Given the description of an element on the screen output the (x, y) to click on. 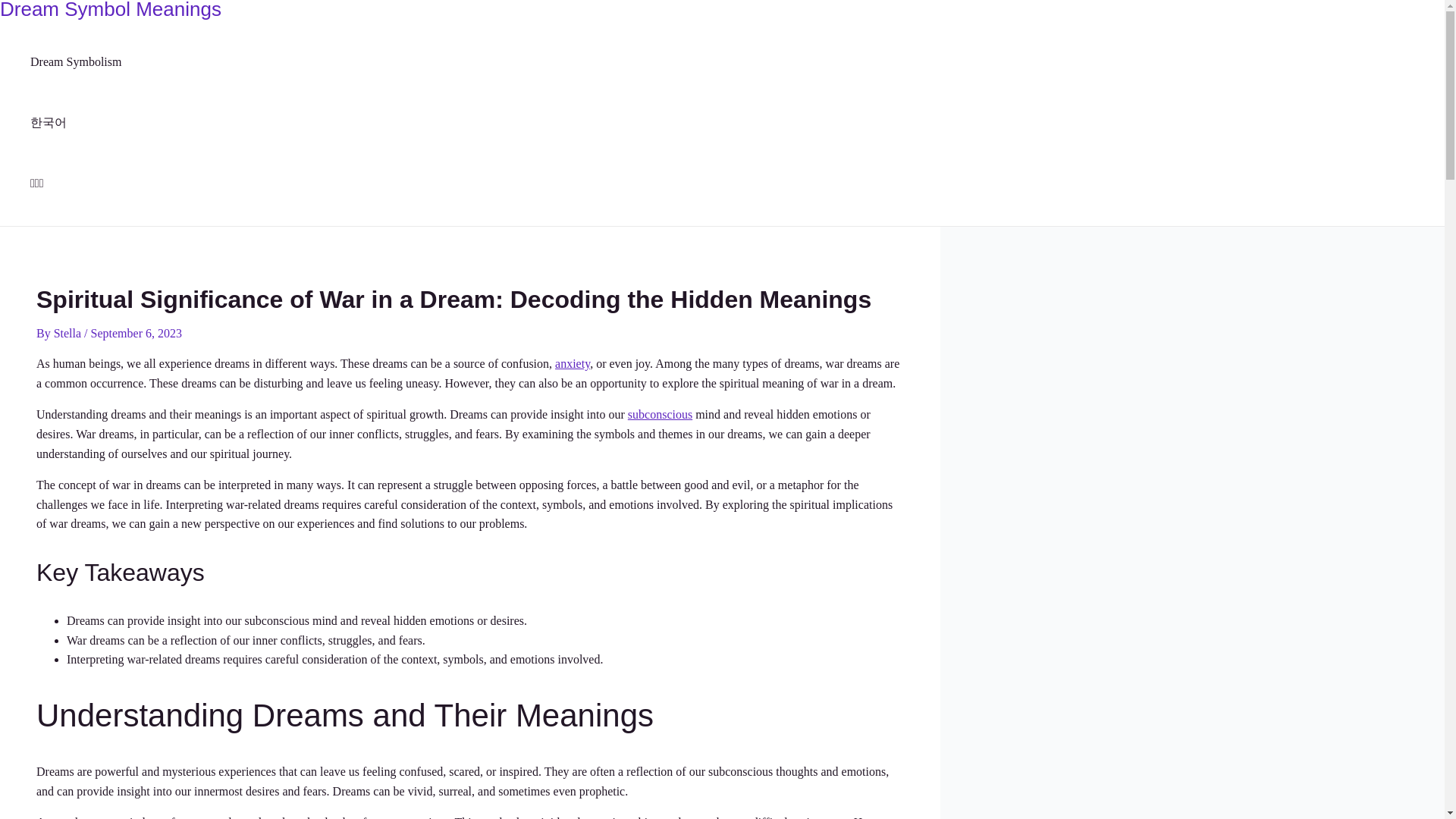
anxiety (571, 363)
Stella (68, 332)
Posts About Subconscious (660, 413)
Dream Symbol Meanings (110, 10)
subconscious (660, 413)
View all posts by Stella (68, 332)
Posts tagged with Anxiety (571, 363)
Dream Symbolism (75, 61)
